Given the description of an element on the screen output the (x, y) to click on. 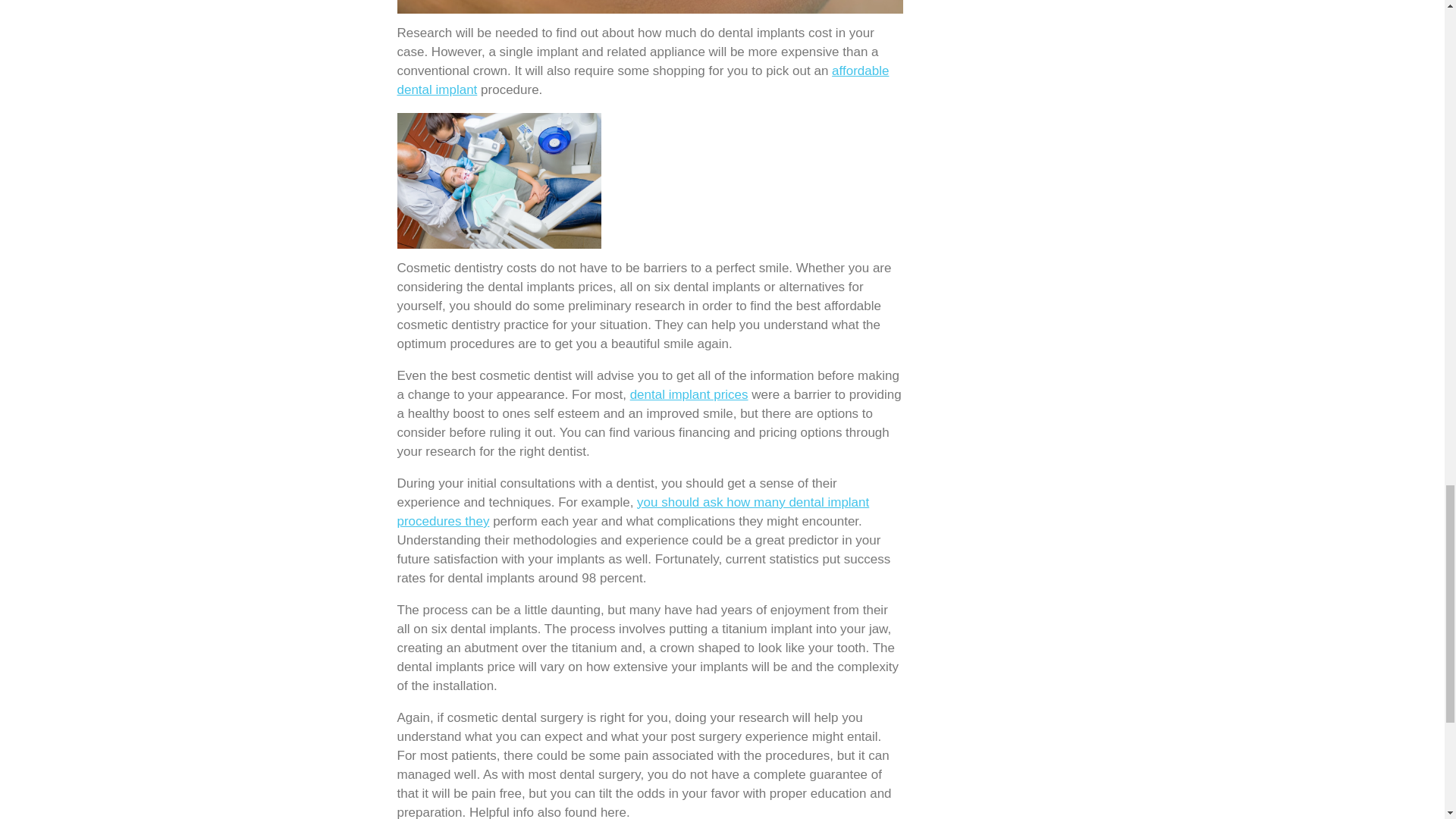
you should ask how many dental implant procedures they (633, 511)
affordable dental implant (643, 80)
Indianapolis all in four dental implants (633, 511)
dental implant prices (689, 394)
Dental implant procedure, Dental implant procedure (689, 394)
